Given the description of an element on the screen output the (x, y) to click on. 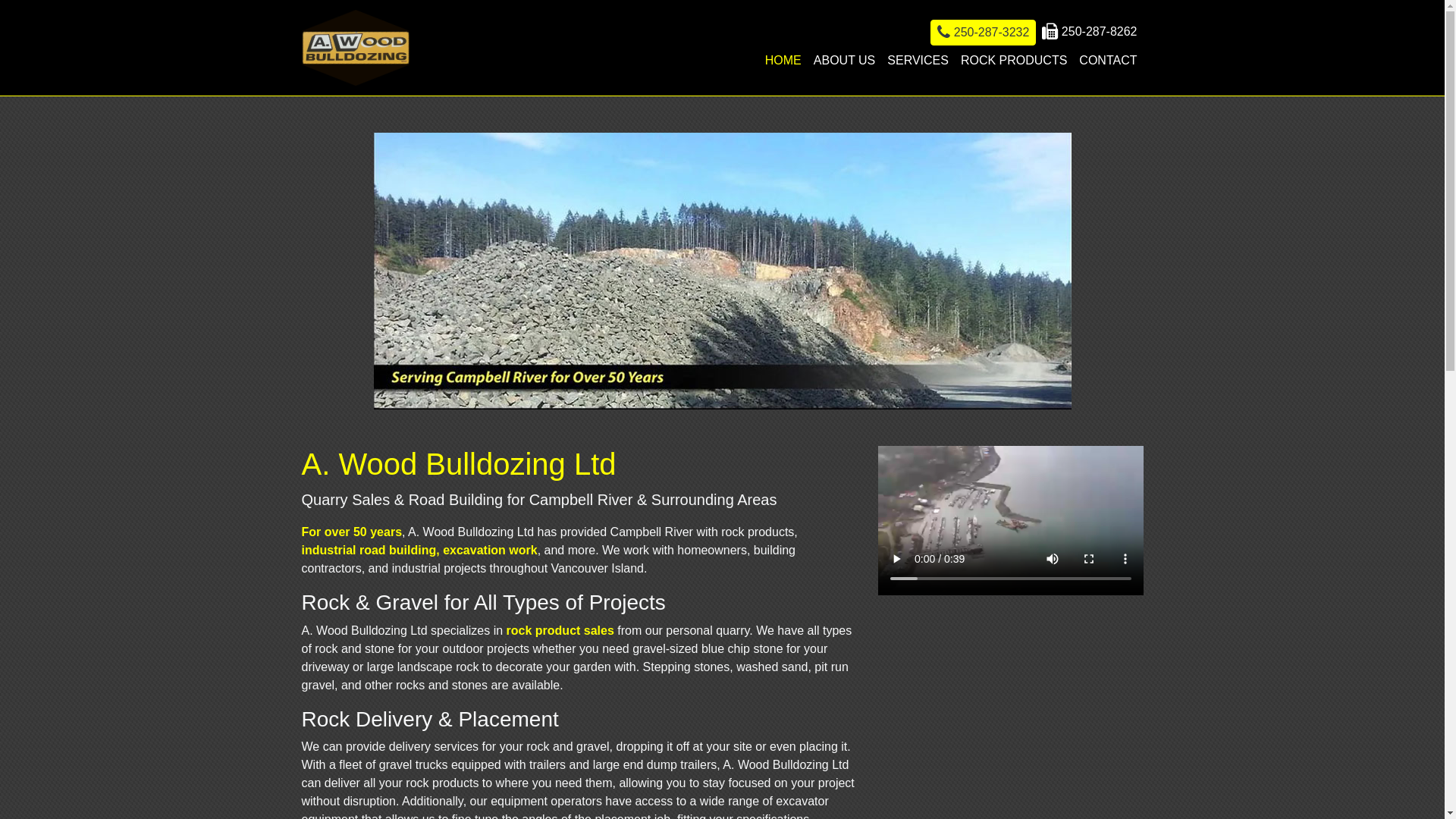
ROCK PRODUCTS Element type: text (1013, 60)
ABOUT US Element type: text (844, 60)
For over 50 years Element type: text (351, 531)
250-287-3232 Element type: text (982, 32)
250-287-8262 Element type: text (1088, 31)
CONTACT Element type: text (1107, 60)
SERVICES Element type: text (917, 60)
rock product sales Element type: text (560, 630)
HOME Element type: text (783, 60)
industrial road building, excavation work Element type: text (419, 549)
